Given the description of an element on the screen output the (x, y) to click on. 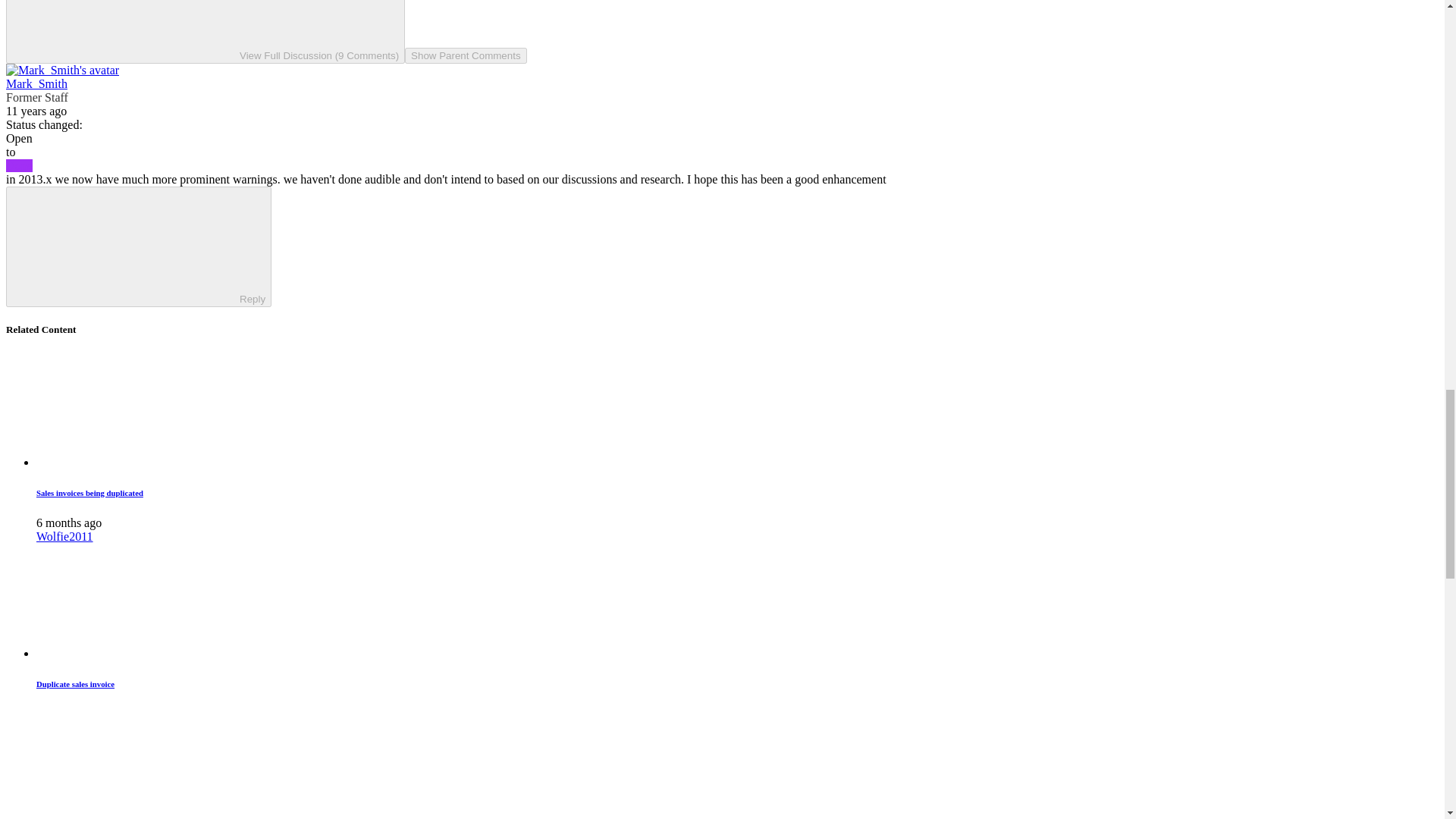
Show Parent Comments (464, 55)
Wolfie2011 (64, 535)
ReplyReply (137, 246)
Sales invoices being duplicated (89, 492)
Duplicate sales invoice (75, 683)
March 6, 2024 at 5:05 AM (68, 522)
September 19, 2013 at 3:22 AM (35, 110)
Reply (125, 245)
